Given the description of an element on the screen output the (x, y) to click on. 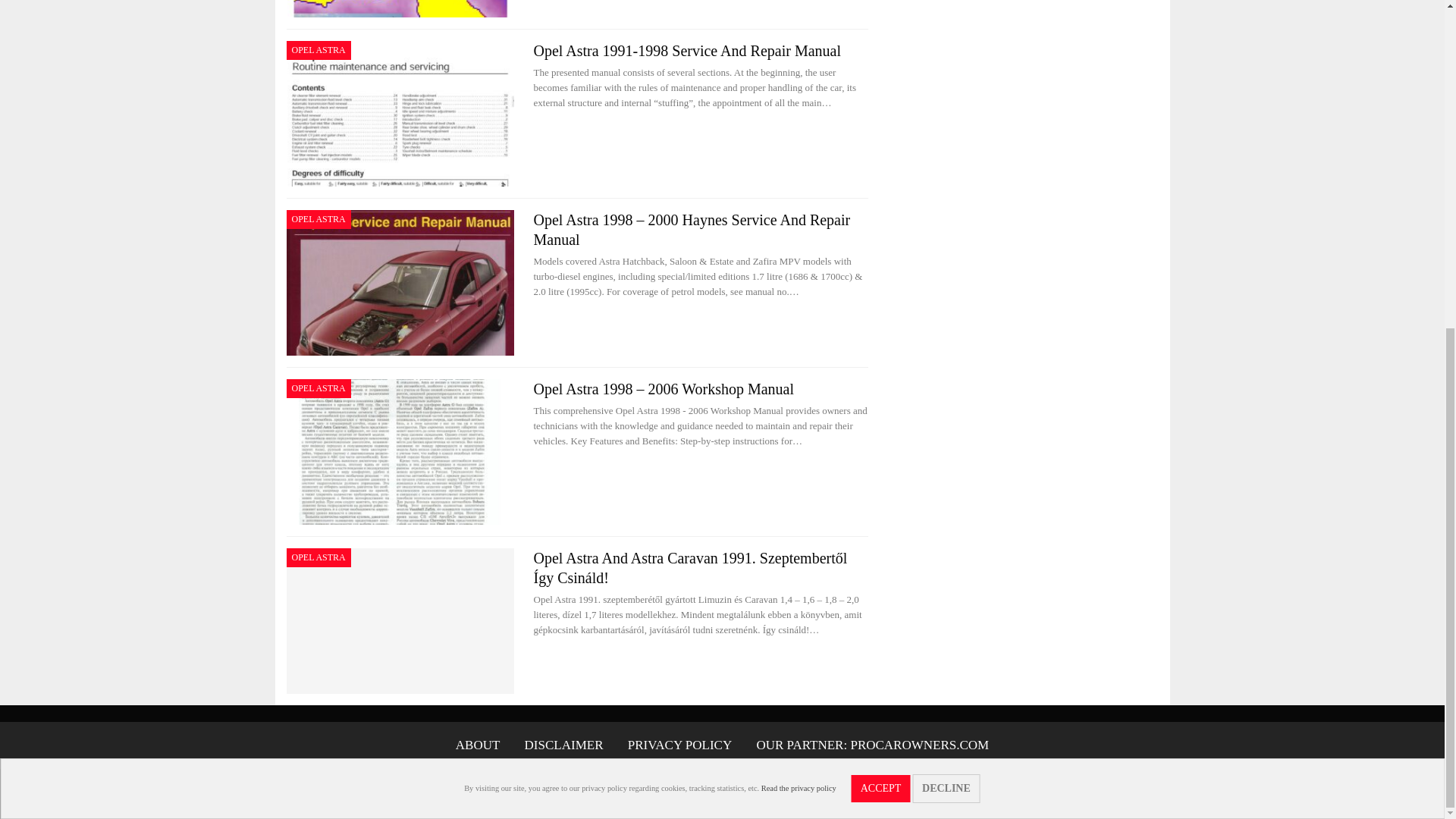
Opel Astra 1991-1998 Service and Repair Manual (399, 113)
Read the privacy policy (798, 246)
ACCEPT (881, 247)
DECLINE (945, 246)
Opel Astra 1991 Workshop Manual (399, 8)
